Given the description of an element on the screen output the (x, y) to click on. 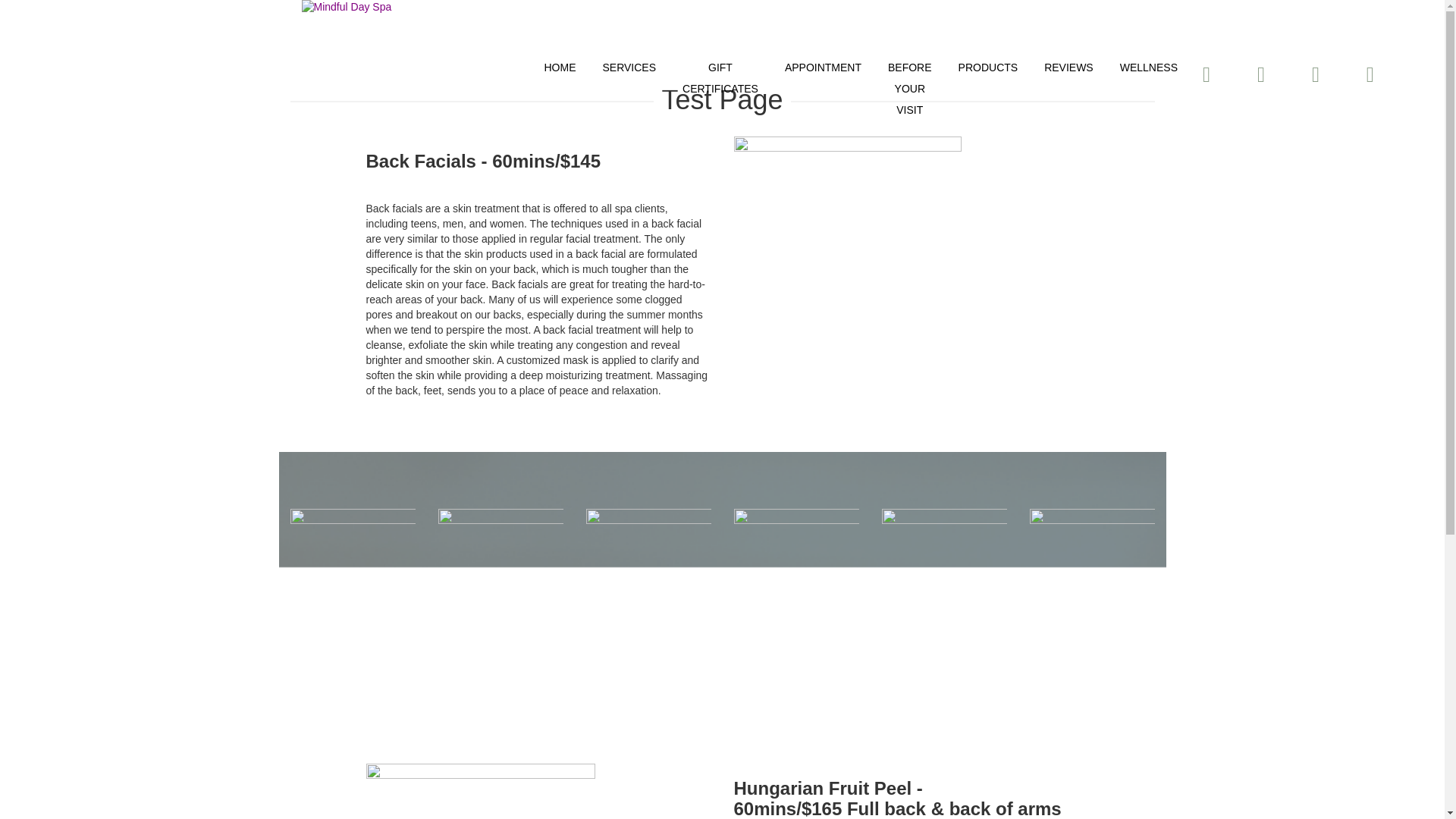
PRODUCTS (990, 67)
GIFT CERTIFICATES (722, 78)
WELLNESS (1150, 67)
SERVICES (631, 67)
REVIEWS (1070, 67)
HOME (561, 67)
Mindful Day Spa (397, 7)
APPOINTMENT (824, 67)
BEFORE YOUR VISIT (911, 88)
